Given the description of an element on the screen output the (x, y) to click on. 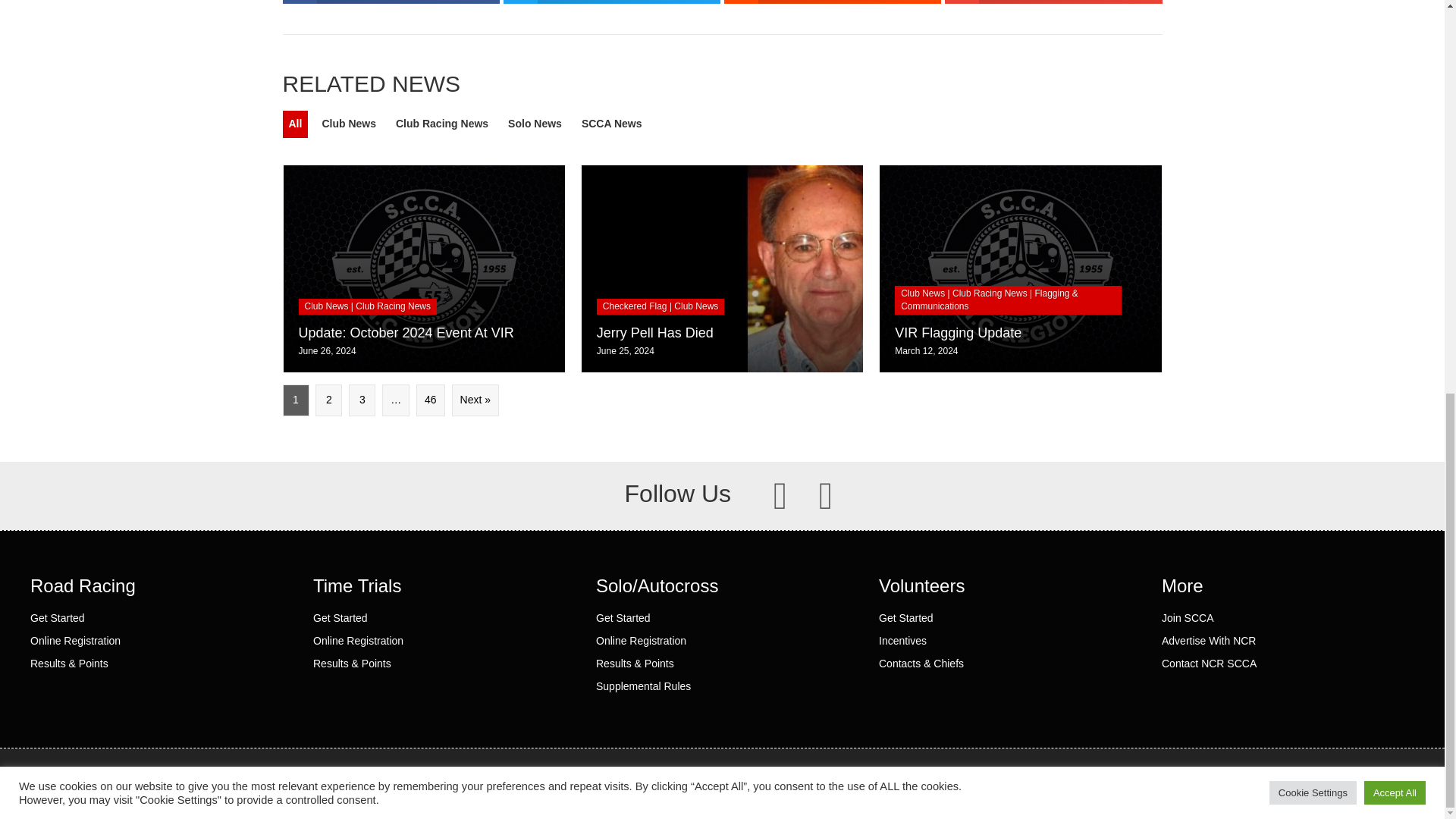
instagram (825, 495)
VIR Flagging Update (1019, 268)
Update: October 2024 event at VIR (405, 332)
Jerry Pell has died (721, 268)
Jerry Pell has died (654, 332)
Update: October 2024 event at VIR (423, 268)
facebook (780, 495)
VIR Flagging Update (958, 332)
